Given the description of an element on the screen output the (x, y) to click on. 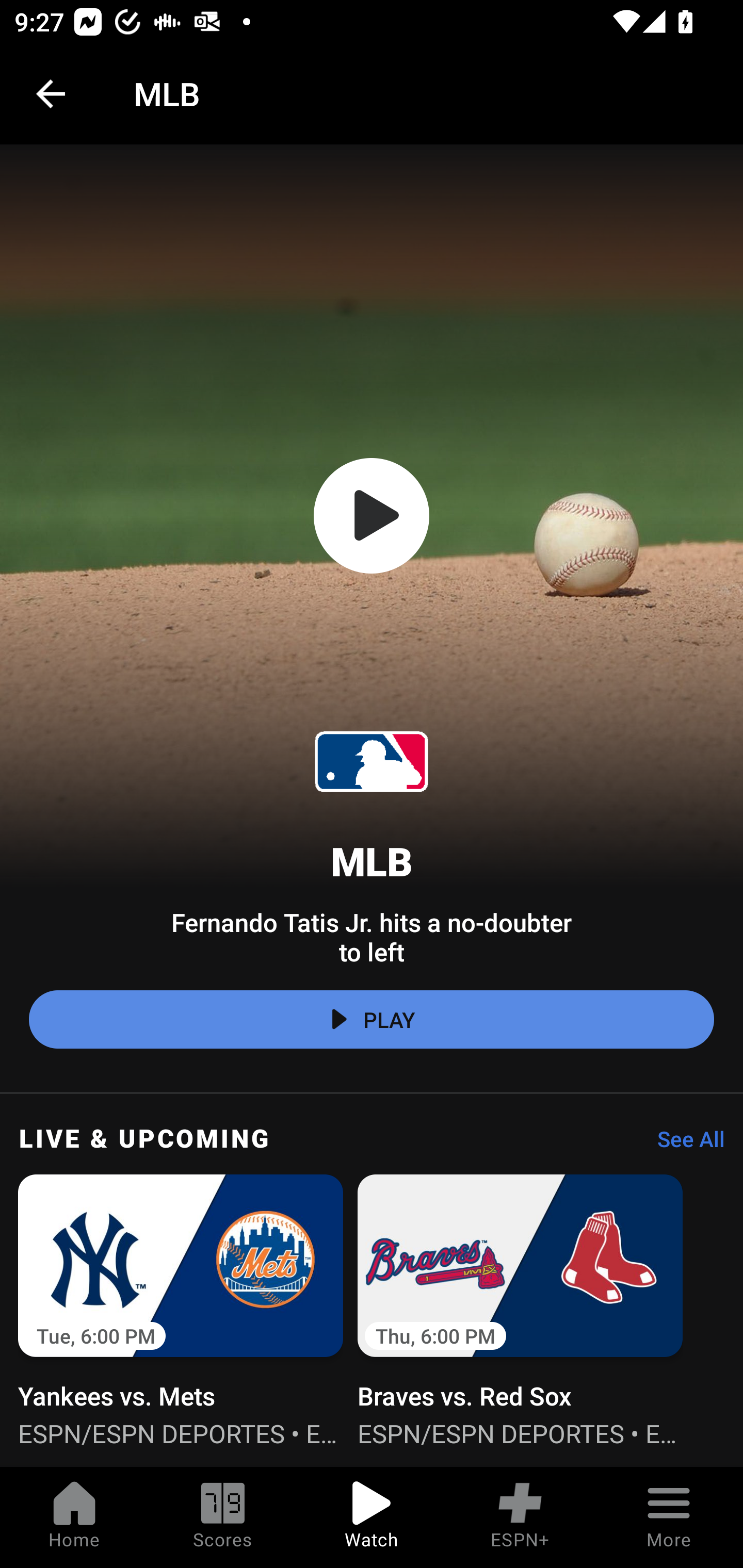
 (371, 515)
PLAY (371, 1019)
See All (683, 1143)
Home (74, 1517)
Scores (222, 1517)
ESPN+ (519, 1517)
More (668, 1517)
